Given the description of an element on the screen output the (x, y) to click on. 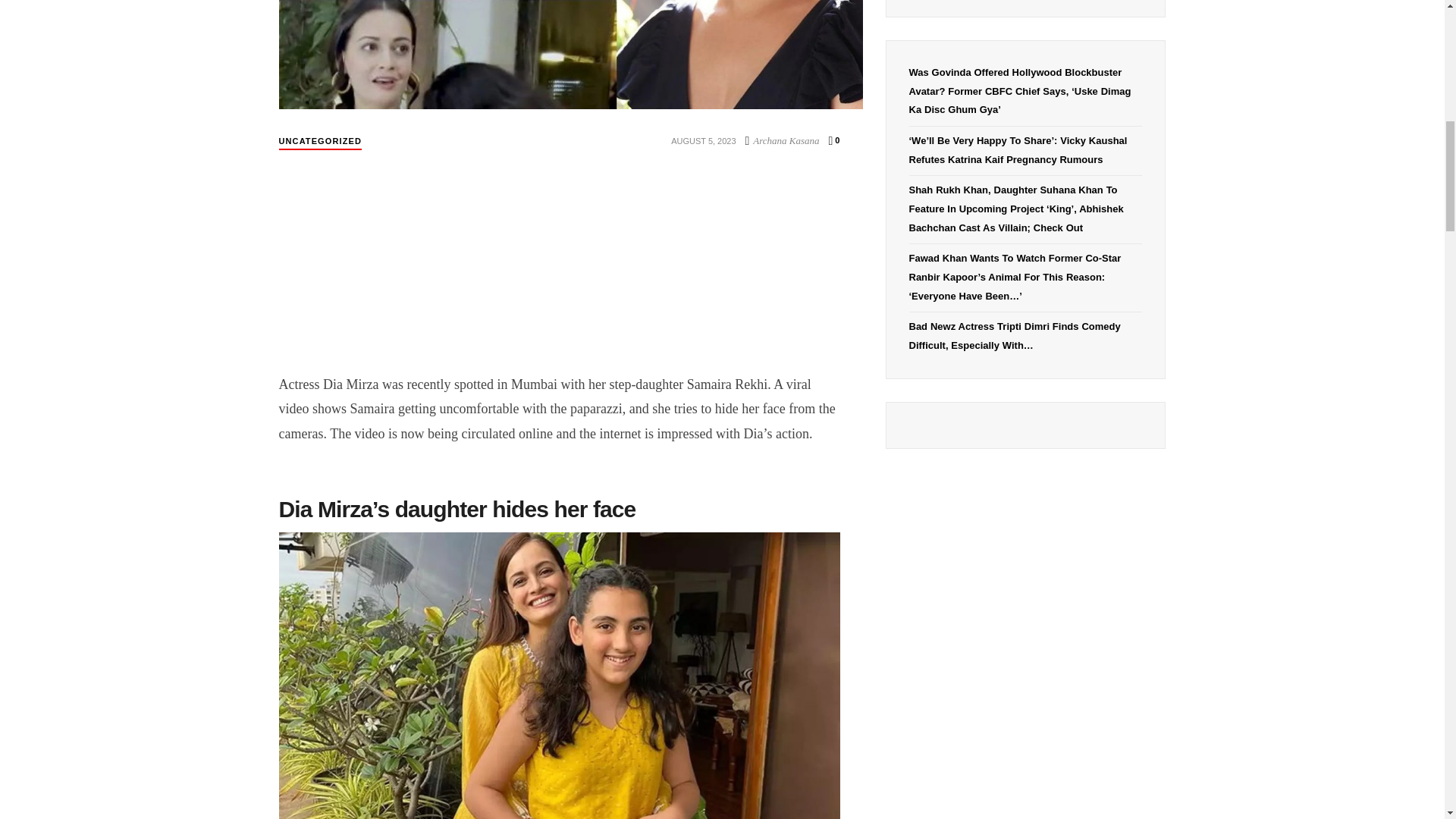
0 (834, 139)
UNCATEGORIZED (320, 141)
